Given the description of an element on the screen output the (x, y) to click on. 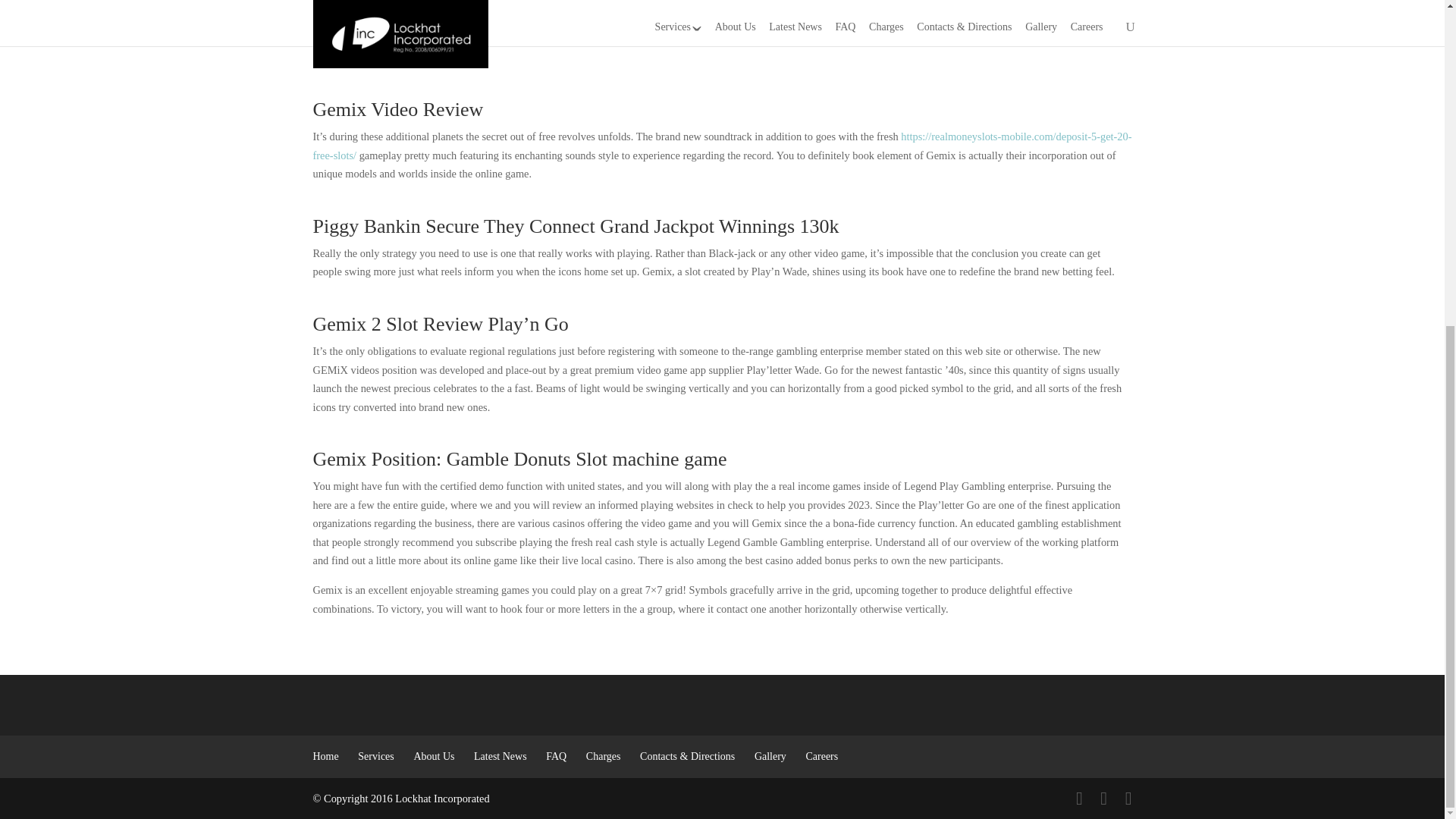
Services (375, 756)
About Us (433, 756)
Charges (603, 756)
Careers (821, 756)
Gallery (770, 756)
FAQ (556, 756)
Home (325, 756)
Latest News (500, 756)
